Given the description of an element on the screen output the (x, y) to click on. 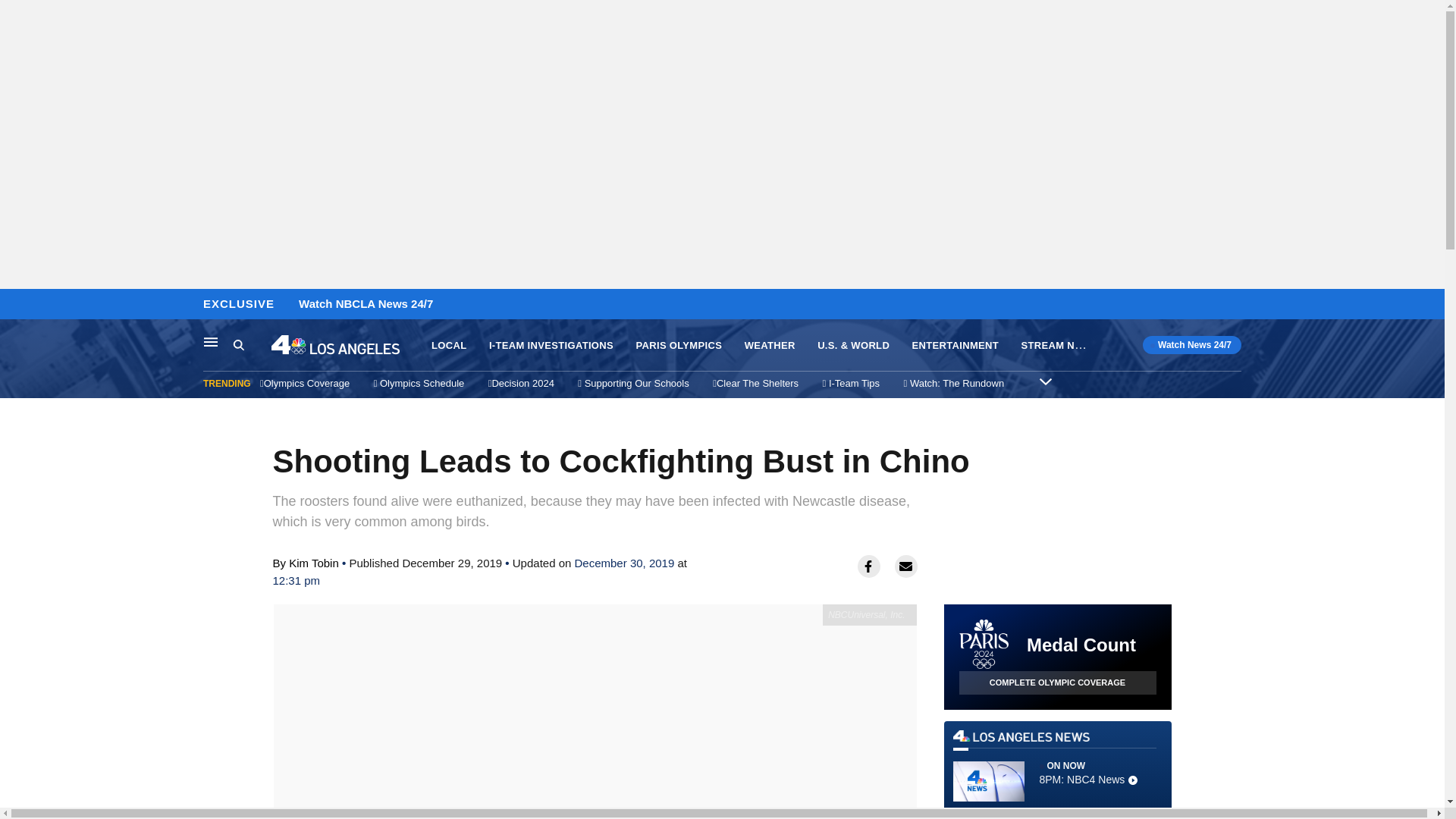
Skip to content (16, 304)
Expand (1045, 381)
COMPLETE OLYMPIC COVERAGE (1057, 682)
Search (252, 345)
PARIS OLYMPICS (678, 345)
WEATHER (769, 345)
I-TEAM INVESTIGATIONS (550, 345)
ENTERTAINMENT (955, 345)
LOCAL (1056, 766)
Main Navigation (447, 345)
Search (210, 341)
